Given the description of an element on the screen output the (x, y) to click on. 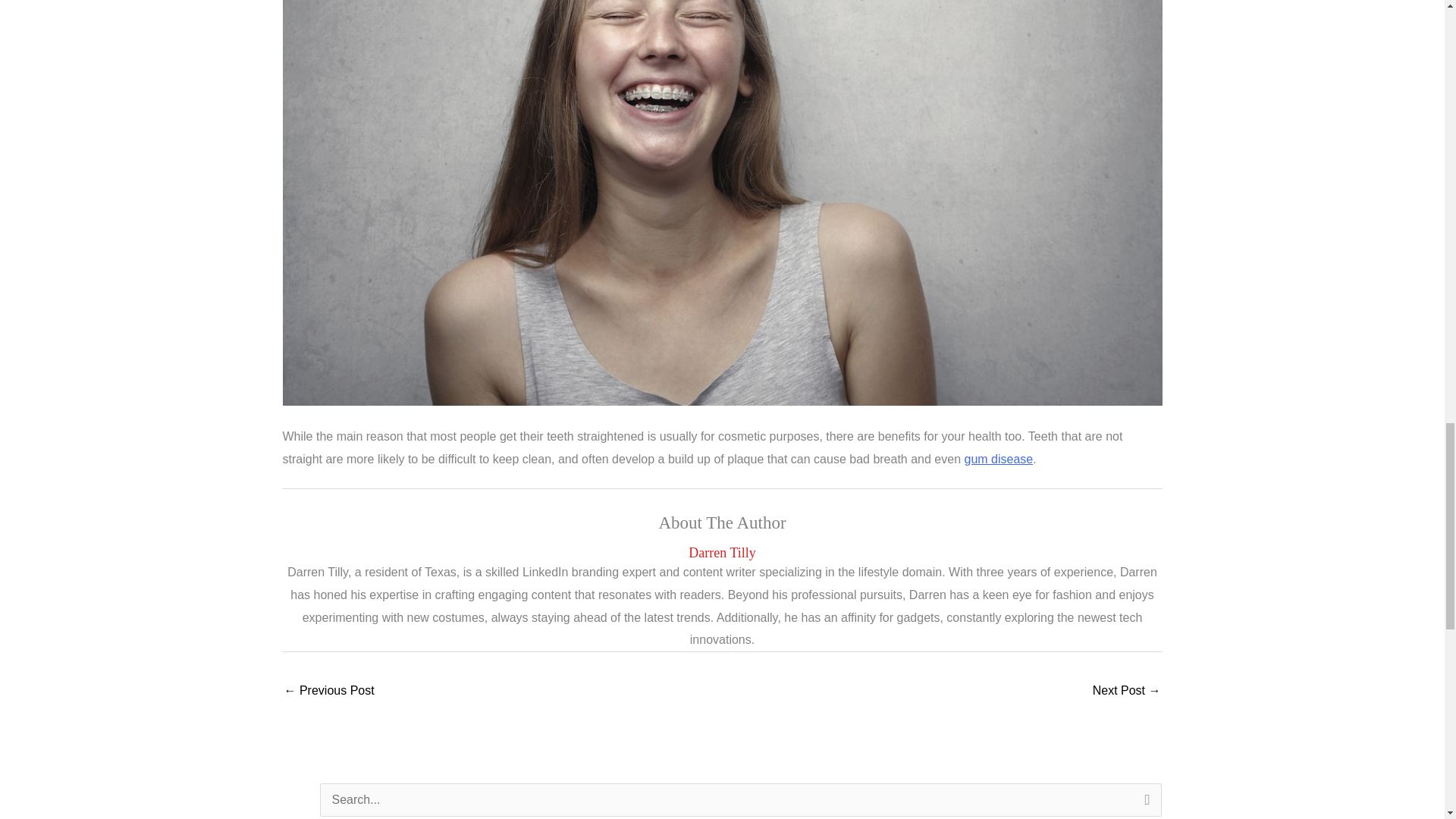
Dental Whitening: The Truth Behind At-Home Whitening Kits (328, 691)
Darren Tilly (721, 553)
gum disease (997, 459)
Search (1143, 800)
Search (1143, 800)
Search (1143, 800)
